Given the description of an element on the screen output the (x, y) to click on. 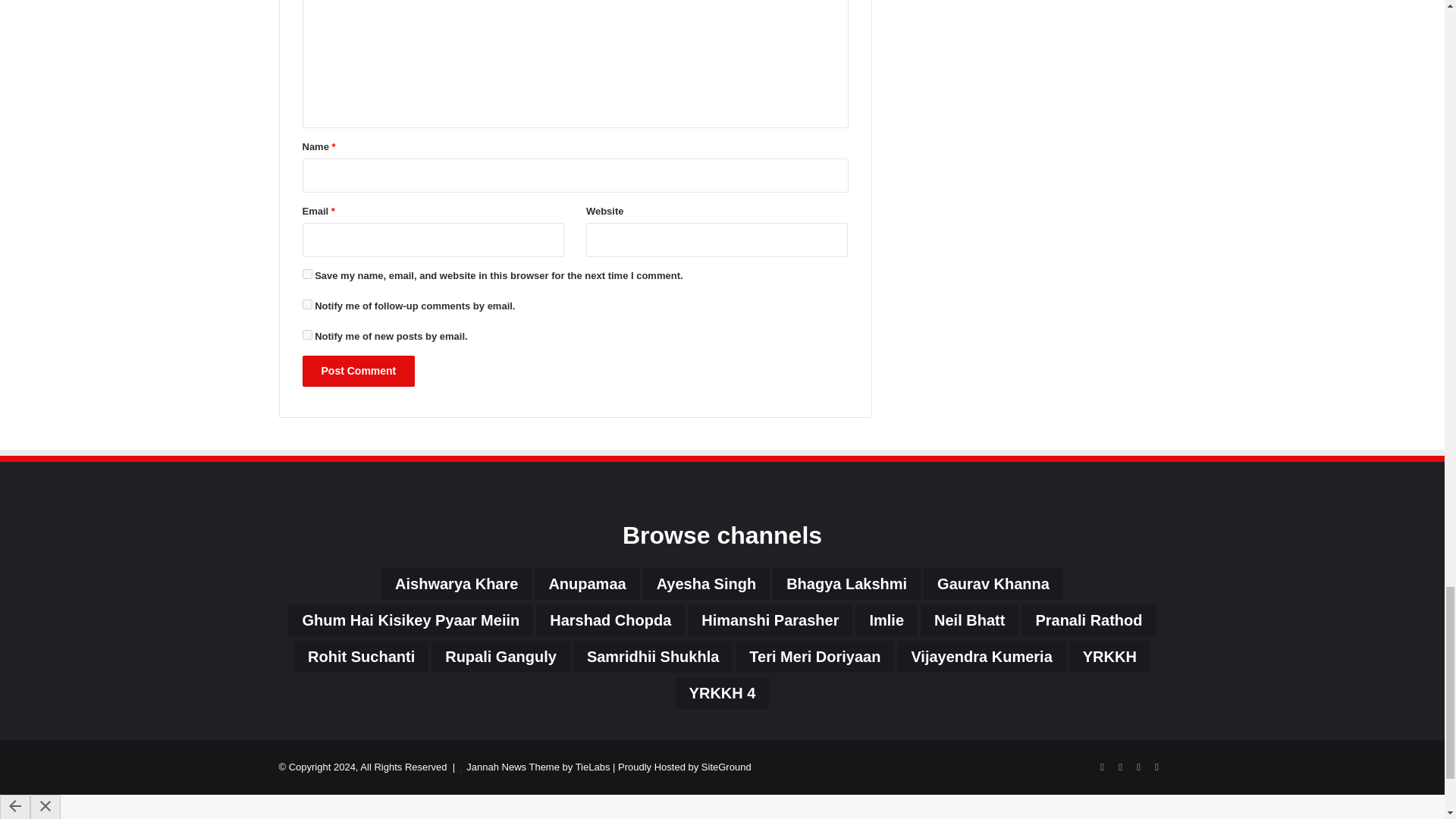
subscribe (306, 304)
Post Comment (357, 370)
subscribe (306, 334)
yes (306, 274)
